Given the description of an element on the screen output the (x, y) to click on. 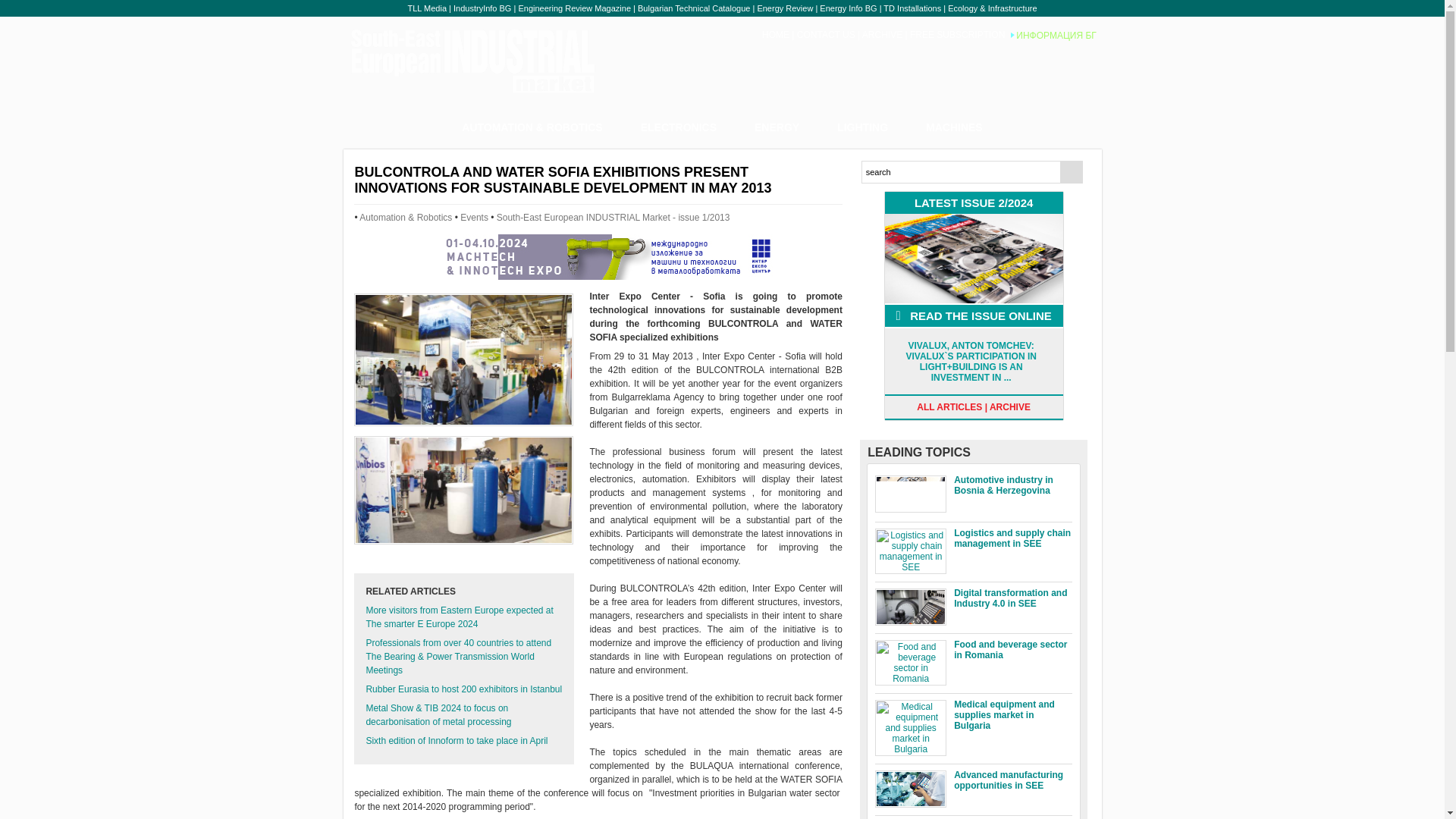
Energy Review (784, 8)
MACHINES (954, 127)
ENERGY (776, 127)
TLL Media (426, 8)
ELECTRONICS (678, 127)
ALL ARTICLES (949, 407)
Energy Info BG (847, 8)
CONTACT US (826, 34)
Lighting (678, 127)
